Given the description of an element on the screen output the (x, y) to click on. 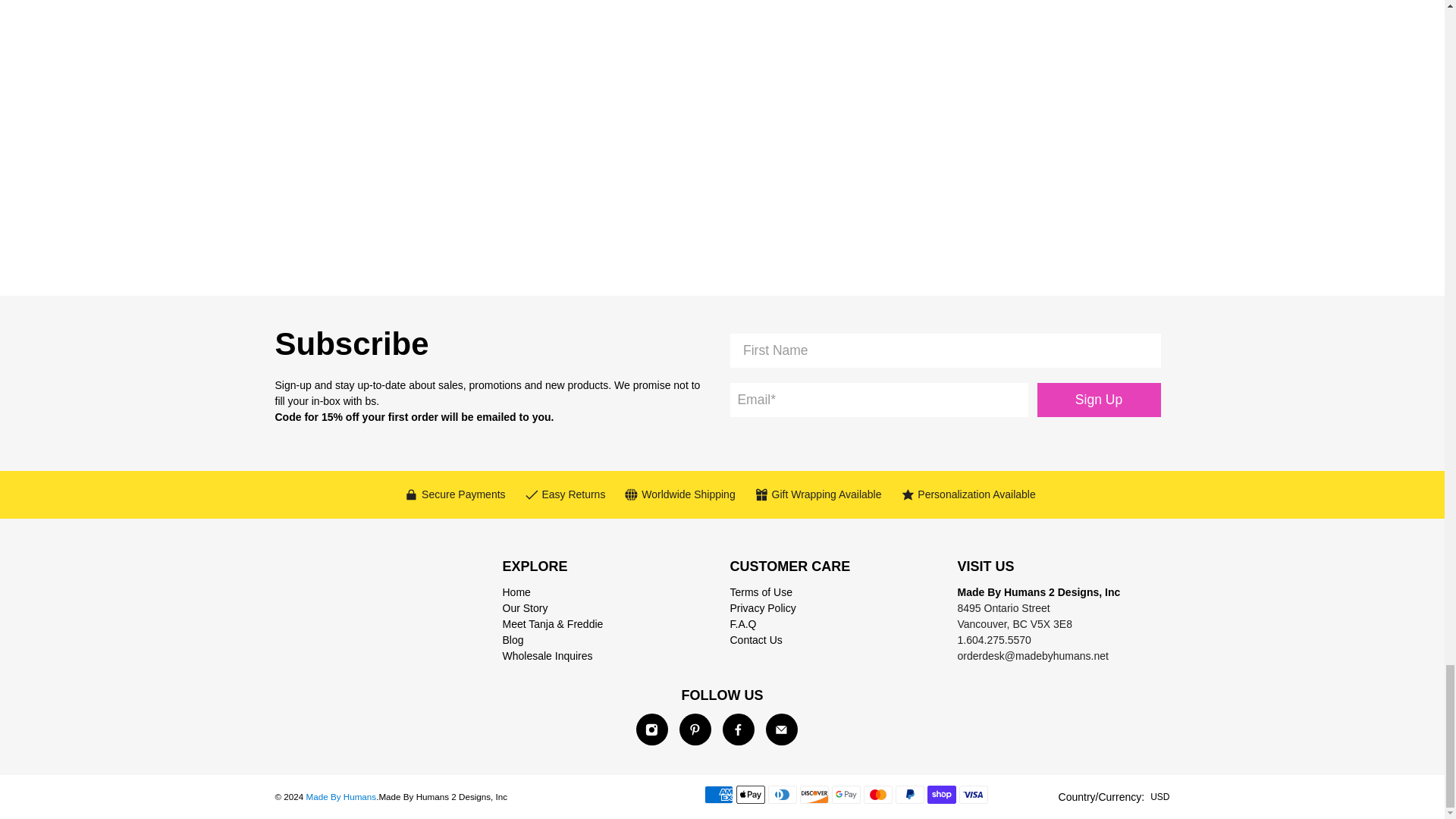
Diners Club (782, 794)
Made By Humans on Instagram (650, 729)
Email Made By Humans (781, 729)
Made By Humans (359, 607)
Made By Humans on Facebook (738, 729)
Made By Humans on Pinterest (695, 729)
American Express (718, 794)
Apple Pay (750, 794)
